Given the description of an element on the screen output the (x, y) to click on. 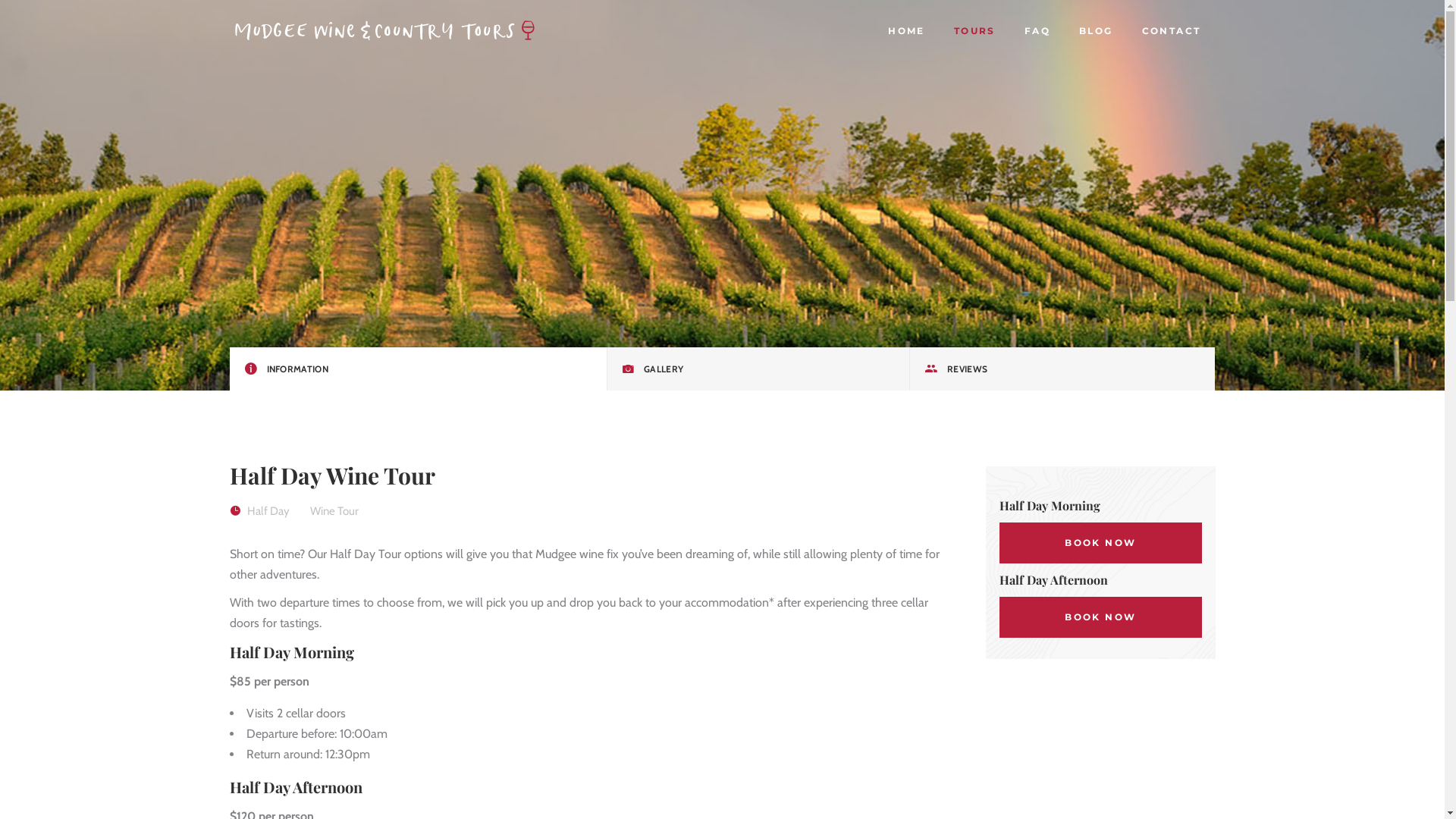
Wine Tour Element type: text (333, 510)
Book now Element type: text (1100, 542)
GALLERY Element type: text (758, 368)
REVIEWS Element type: text (1062, 368)
BLOG Element type: text (1095, 30)
HOME Element type: text (906, 30)
INFORMATION Element type: text (418, 368)
CONTACT Element type: text (1171, 30)
FAQ Element type: text (1037, 30)
Book now Element type: text (1100, 616)
TOURS Element type: text (974, 30)
